Given the description of an element on the screen output the (x, y) to click on. 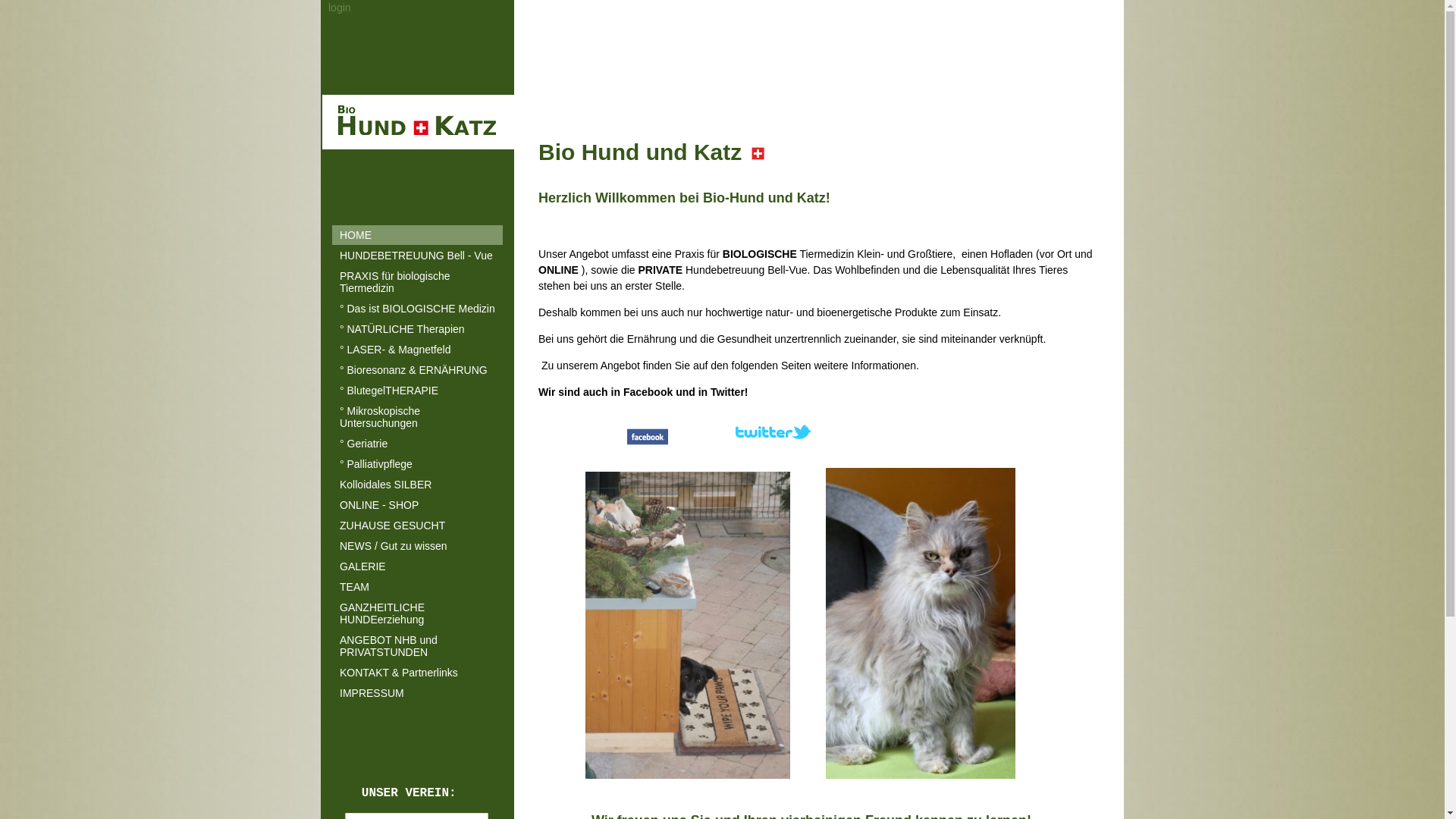
Bio-Hund und Katz Element type: hover (418, 121)
HOME Element type: text (417, 234)
KONTAKT & Partnerlinks Element type: text (417, 672)
ANGEBOT NHB und PRIVATSTUNDEN Element type: text (417, 646)
IMPRESSUM Element type: text (417, 692)
GANZHEITLICHE HUNDEerziehung Element type: text (417, 613)
Kolloidales SILBER Element type: text (417, 484)
ZUHAUSE GESUCHT Element type: text (417, 525)
TEAM Element type: text (417, 586)
ONLINE - SHOP Element type: text (417, 504)
GALERIE Element type: text (417, 566)
login Element type: text (339, 7)
NEWS / Gut zu wissen Element type: text (417, 545)
HUNDEBETREUUNG Bell - Vue Element type: text (417, 255)
